Given the description of an element on the screen output the (x, y) to click on. 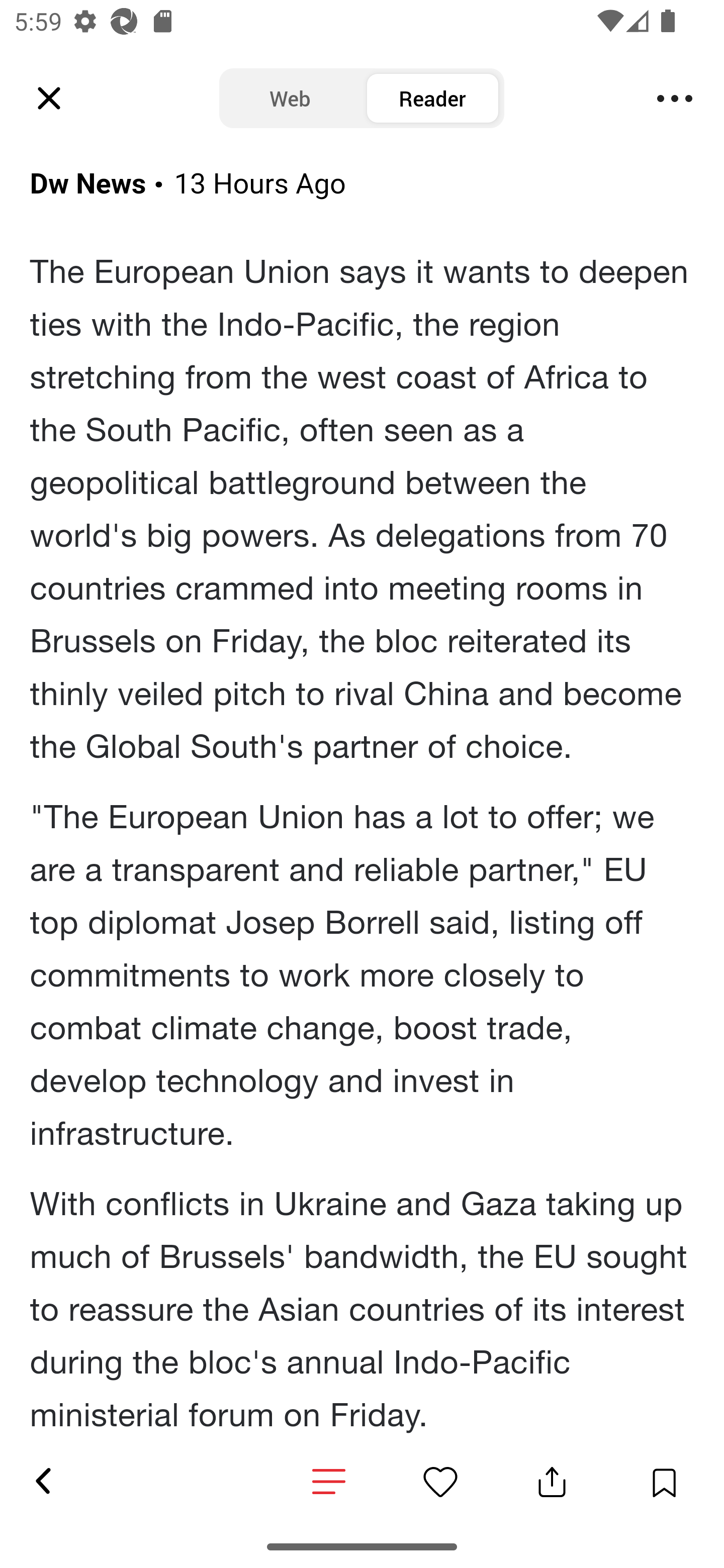
Web (290, 98)
Menu (674, 98)
Leading Icon (49, 98)
Back Button (42, 1481)
News Detail Emotion (440, 1481)
Share Button (551, 1481)
Save Button (663, 1481)
News Detail Emotion (329, 1482)
